Given the description of an element on the screen output the (x, y) to click on. 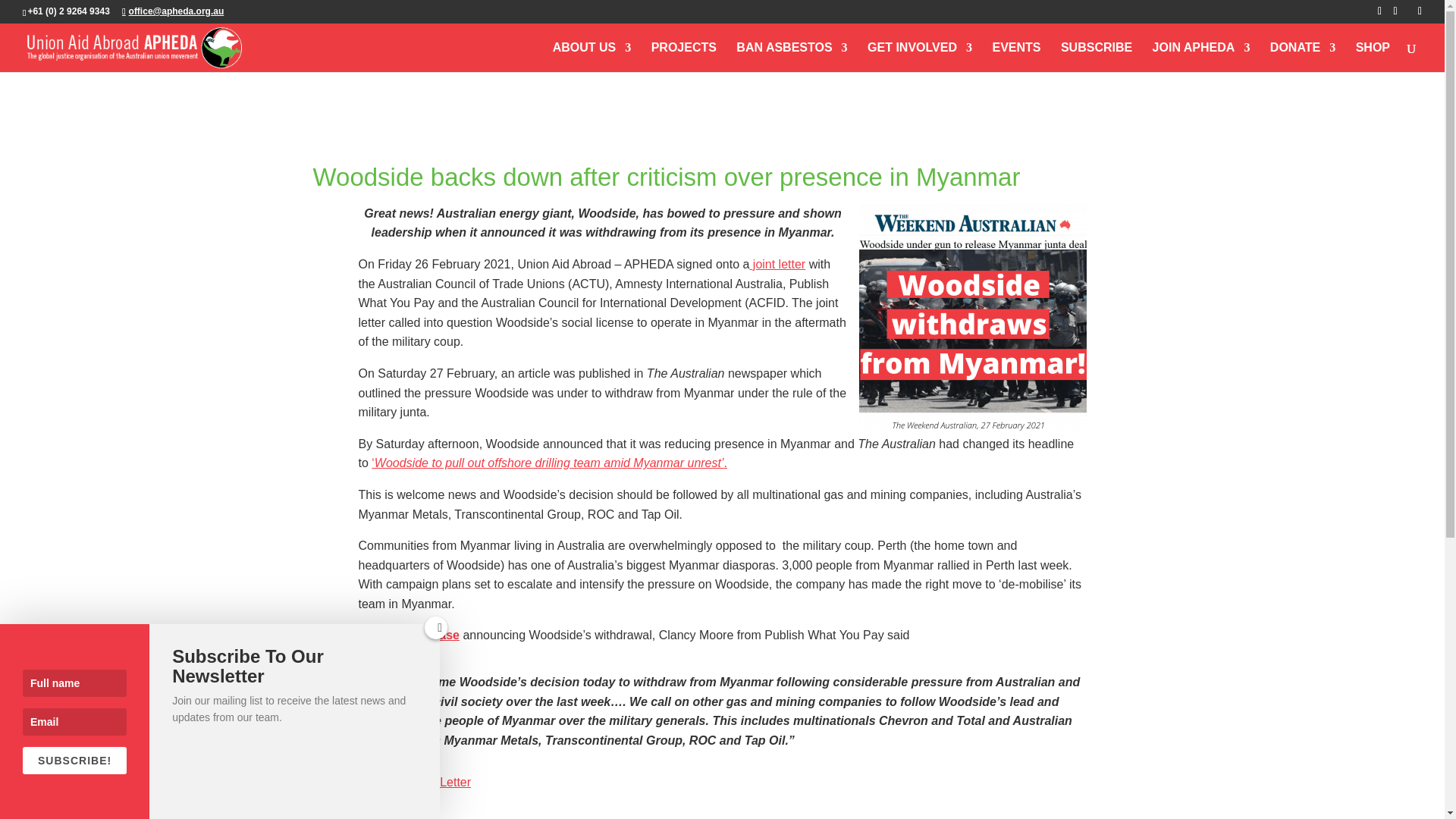
GET INVOLVED (919, 57)
ABOUT US (592, 57)
JOIN APHEDA (1201, 57)
PROJECTS (683, 57)
DONATE (1302, 57)
BAN ASBESTOS (791, 57)
EVENTS (1016, 57)
SUBSCRIBE (1096, 57)
